Given the description of an element on the screen output the (x, y) to click on. 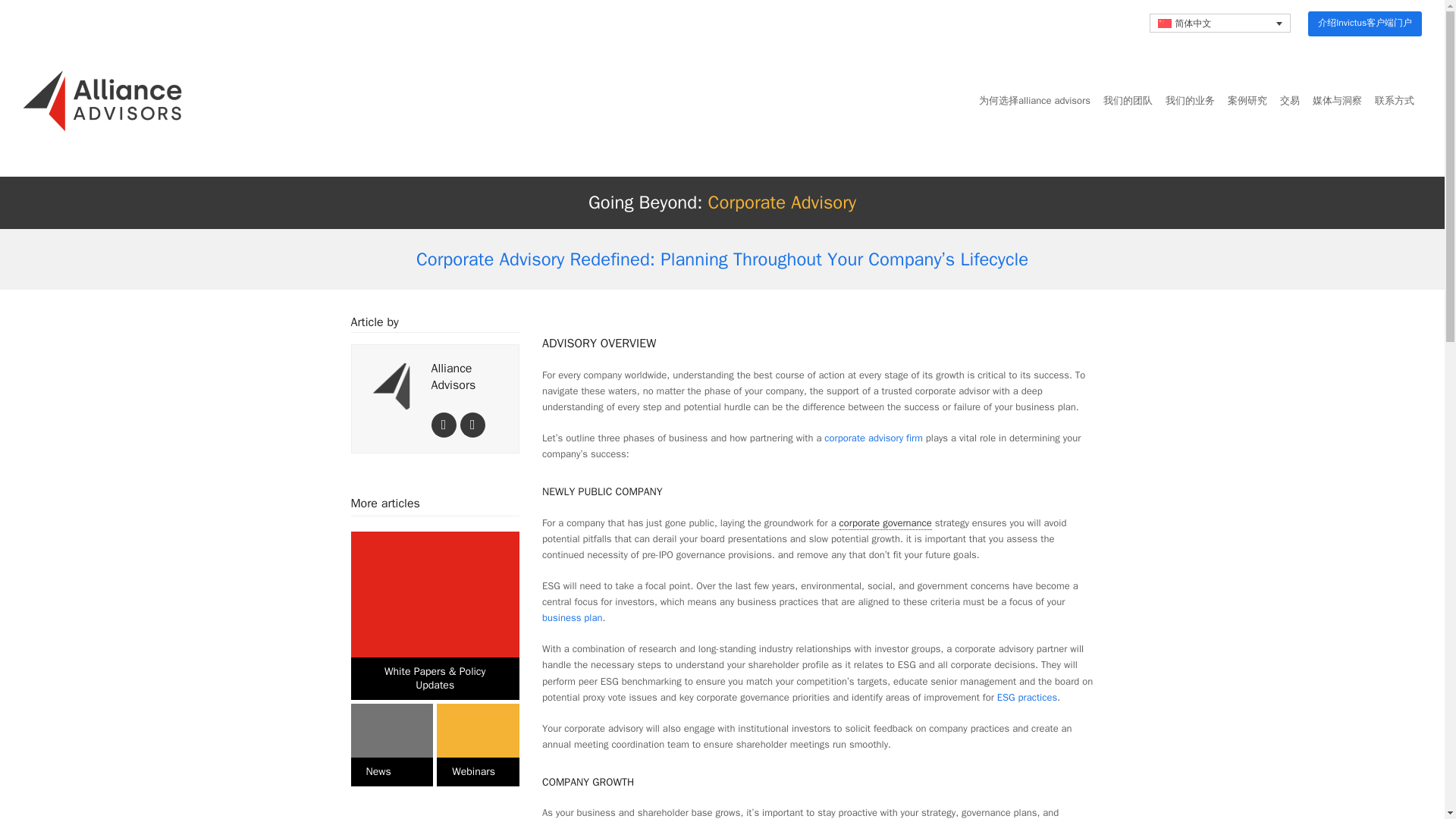
ESG practices (1027, 697)
business plan (571, 617)
Phone Number (442, 424)
Alliance Advisors (453, 377)
News (391, 744)
Visit Author Page (453, 377)
Email (472, 424)
corporate advisory firm (873, 437)
Visit Author Page (393, 385)
corporate governance (885, 522)
